Given the description of an element on the screen output the (x, y) to click on. 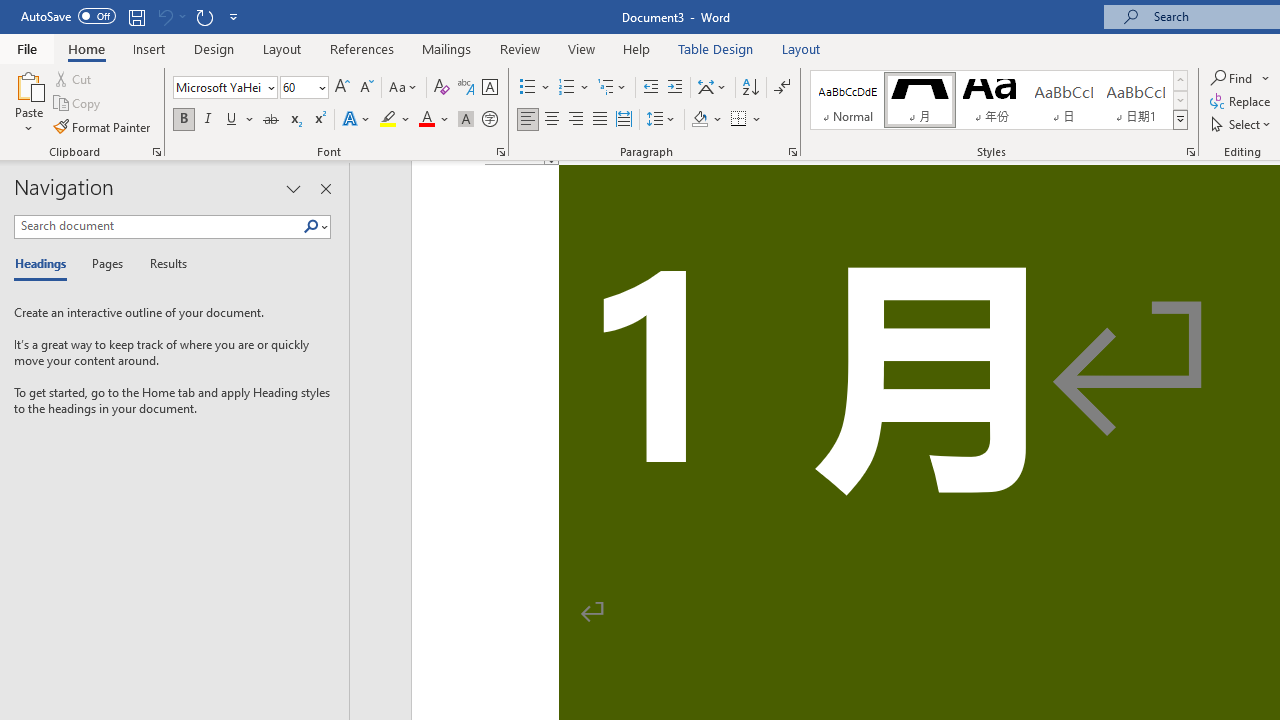
Font Color RGB(255, 0, 0) (426, 119)
